Given the description of an element on the screen output the (x, y) to click on. 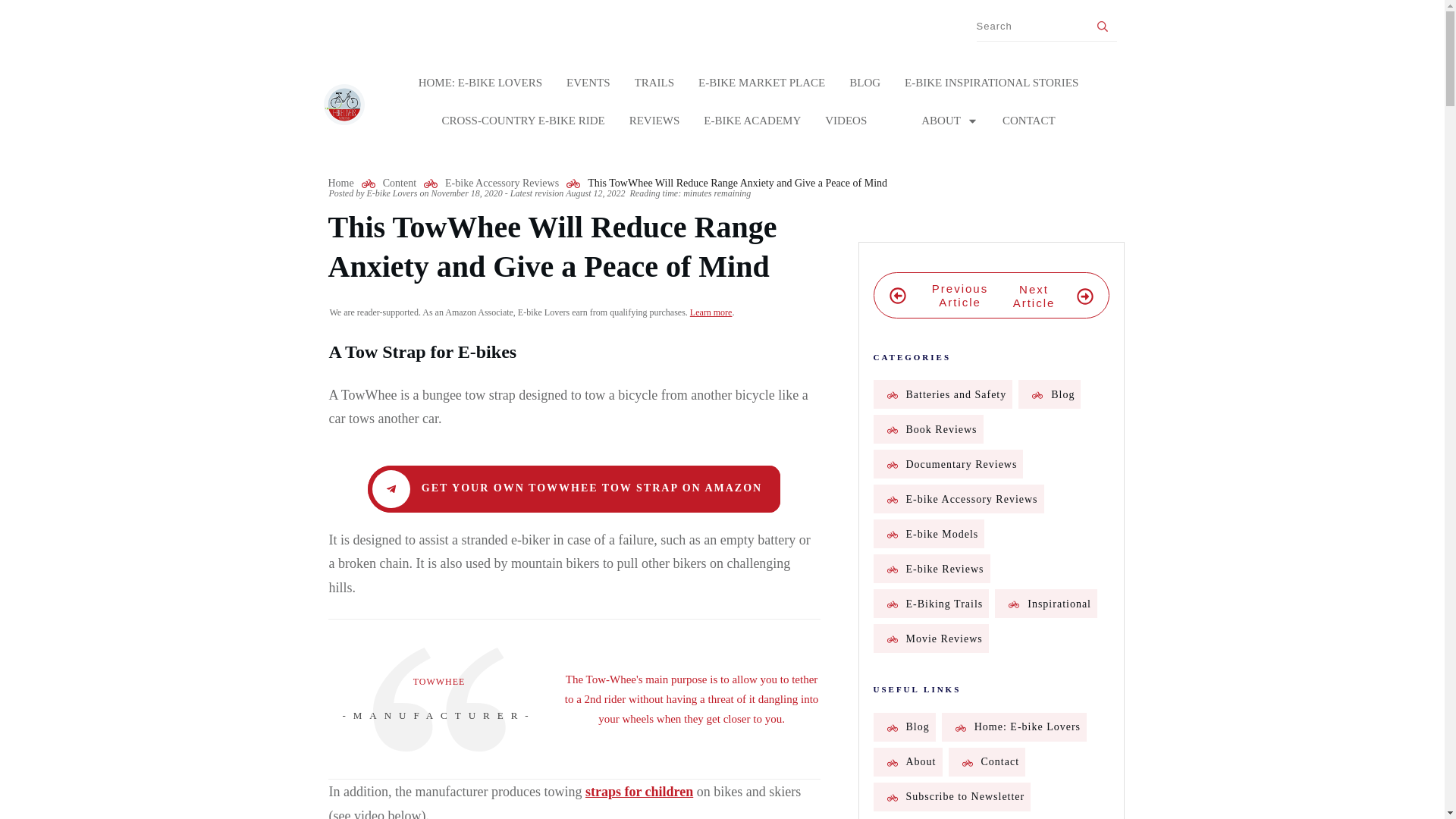
Content (399, 182)
E-BIKE INSPIRATIONAL STORIES (991, 82)
E-BIKE MARKET PLACE (761, 82)
BLOG (864, 82)
straps for children (639, 791)
TRAILS (654, 82)
GET YOUR OWN TOWWHEE TOW STRAP ON AMAZON (574, 489)
CROSS-COUNTRY E-BIKE RIDE (522, 119)
Home (340, 182)
Learn more (711, 312)
E-bike Accessory Reviews (502, 182)
E-BIKE ACADEMY (751, 119)
ABOUT (949, 119)
